Given the description of an element on the screen output the (x, y) to click on. 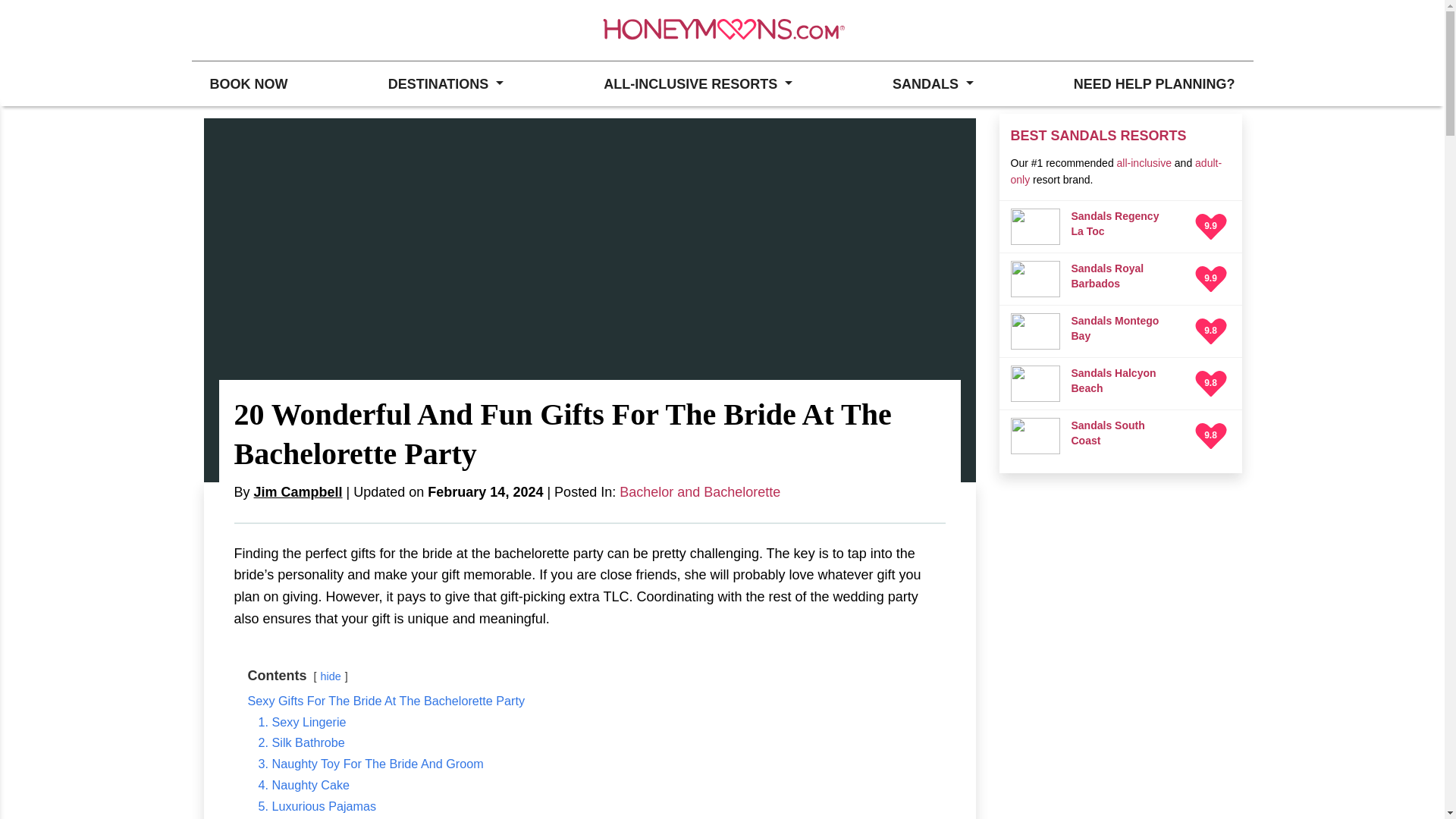
ALL-INCLUSIVE RESORTS (698, 84)
BOOK NOW (247, 84)
DESTINATIONS (445, 84)
